Given the description of an element on the screen output the (x, y) to click on. 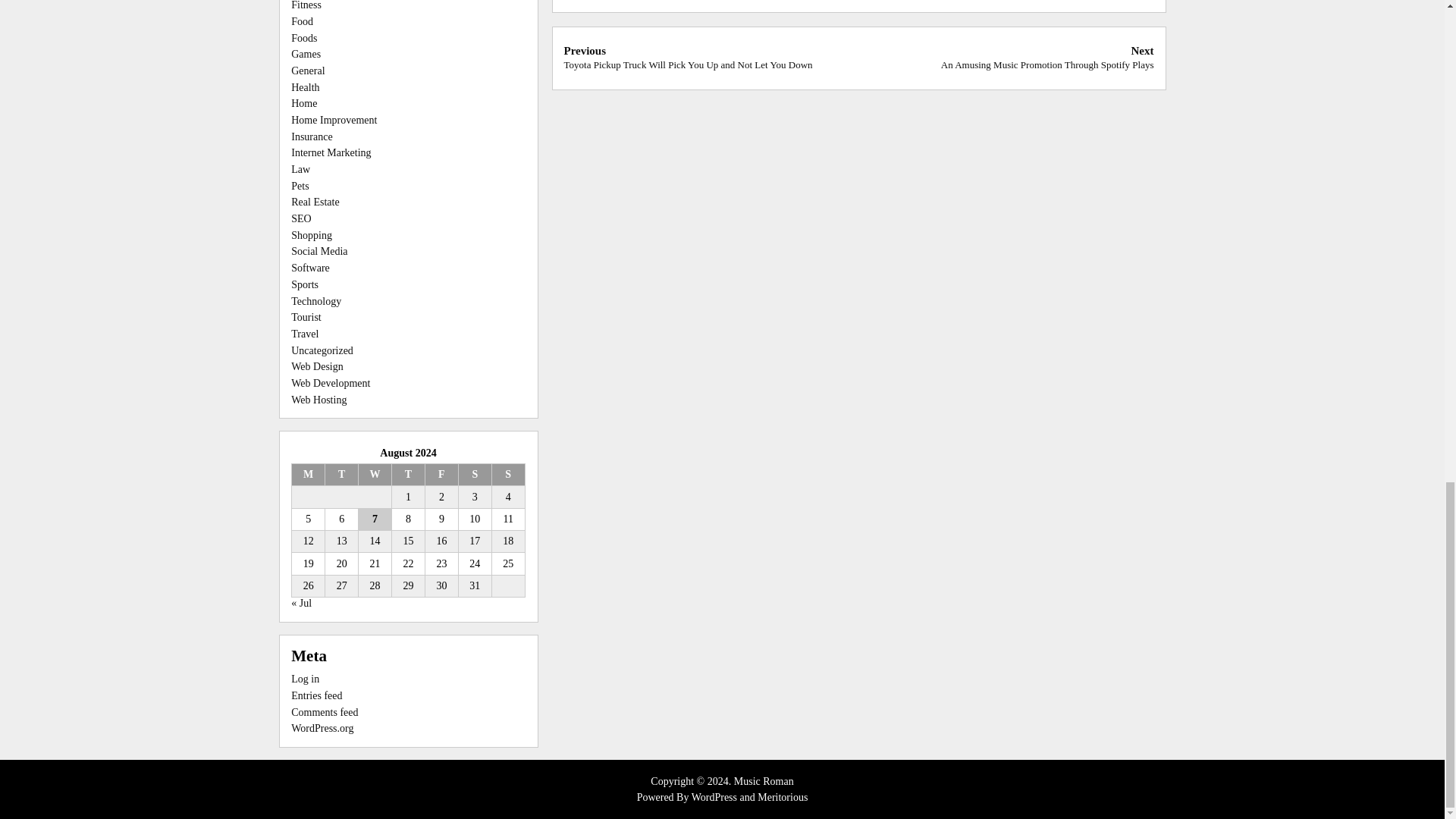
Food (302, 21)
Home (304, 102)
Health (304, 87)
Fitness (306, 5)
Foods (304, 38)
Thursday (408, 475)
General (307, 70)
Wednesday (374, 475)
Monday (308, 475)
